Given the description of an element on the screen output the (x, y) to click on. 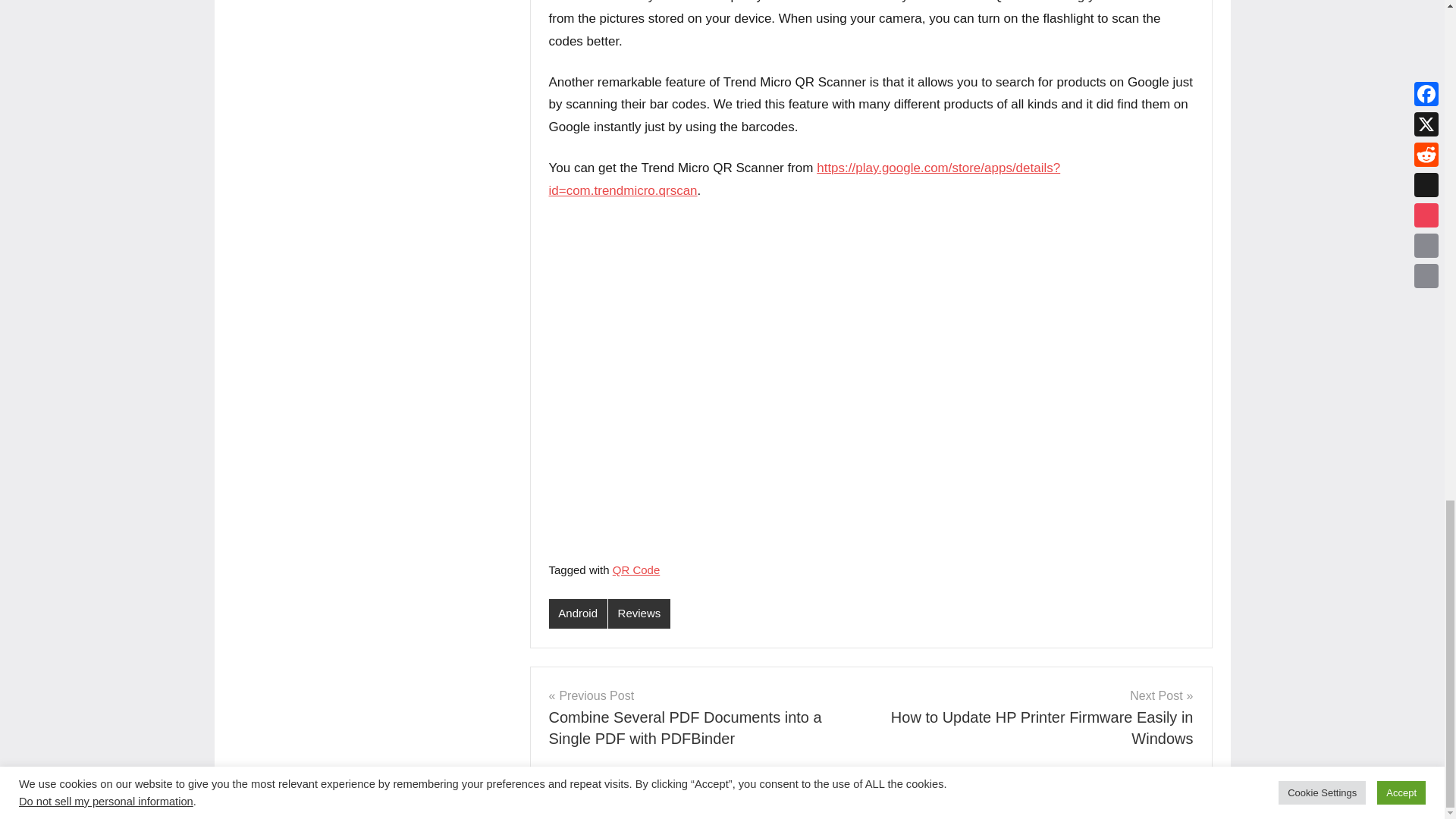
QR Code (636, 569)
Android (577, 613)
Contact Us (649, 802)
Privacy Policy (576, 802)
Terms of Use (720, 802)
TrishTech.com (386, 802)
Reviews (638, 613)
